Given the description of an element on the screen output the (x, y) to click on. 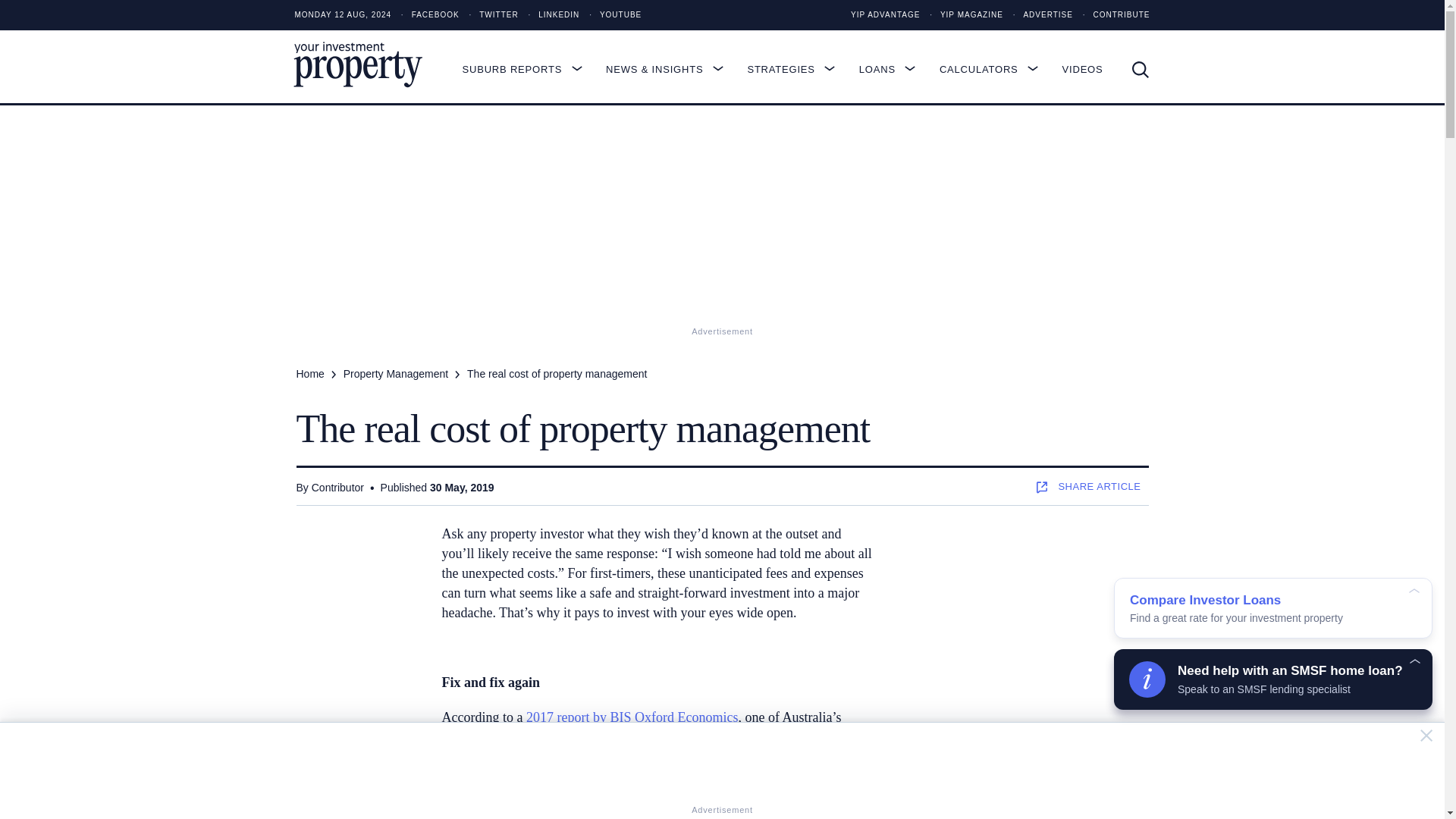
YOUTUBE (611, 15)
YIP ADVANTAGE (885, 15)
CONTRIBUTE (1112, 15)
ADVERTISE (1039, 15)
YIP MAGAZINE (962, 15)
FACEBOOK (426, 15)
STRATEGIES (797, 69)
TWITTER (489, 15)
LINKEDIN (549, 15)
